Given the description of an element on the screen output the (x, y) to click on. 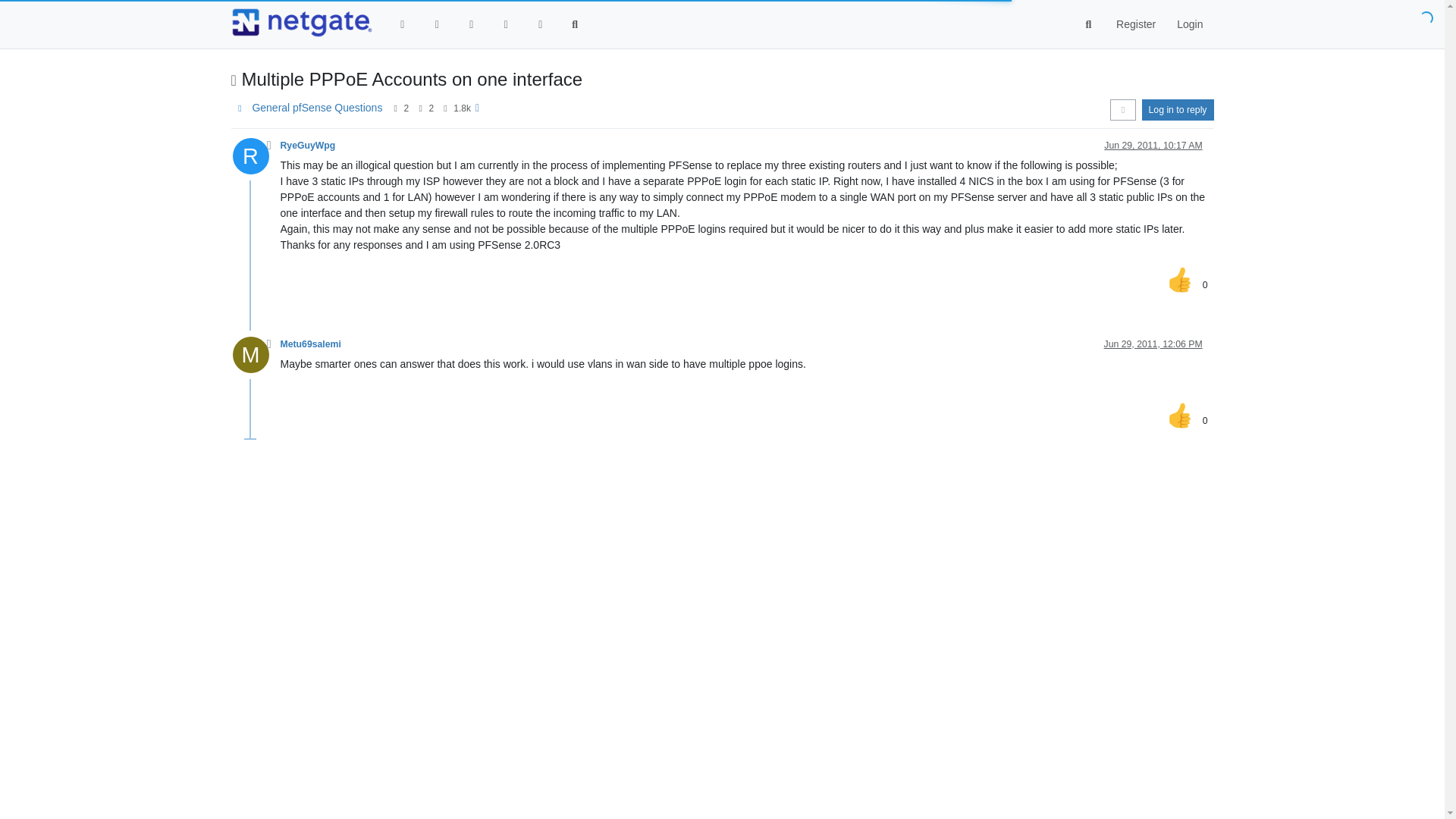
Search (1088, 24)
R (255, 159)
General pfSense Questions (316, 107)
Recent (437, 24)
Popular (504, 24)
Tags (471, 24)
Jun 29, 2011, 10:17 AM (1152, 145)
Search (574, 24)
Users (539, 24)
RyeGuyWpg (308, 145)
